Given the description of an element on the screen output the (x, y) to click on. 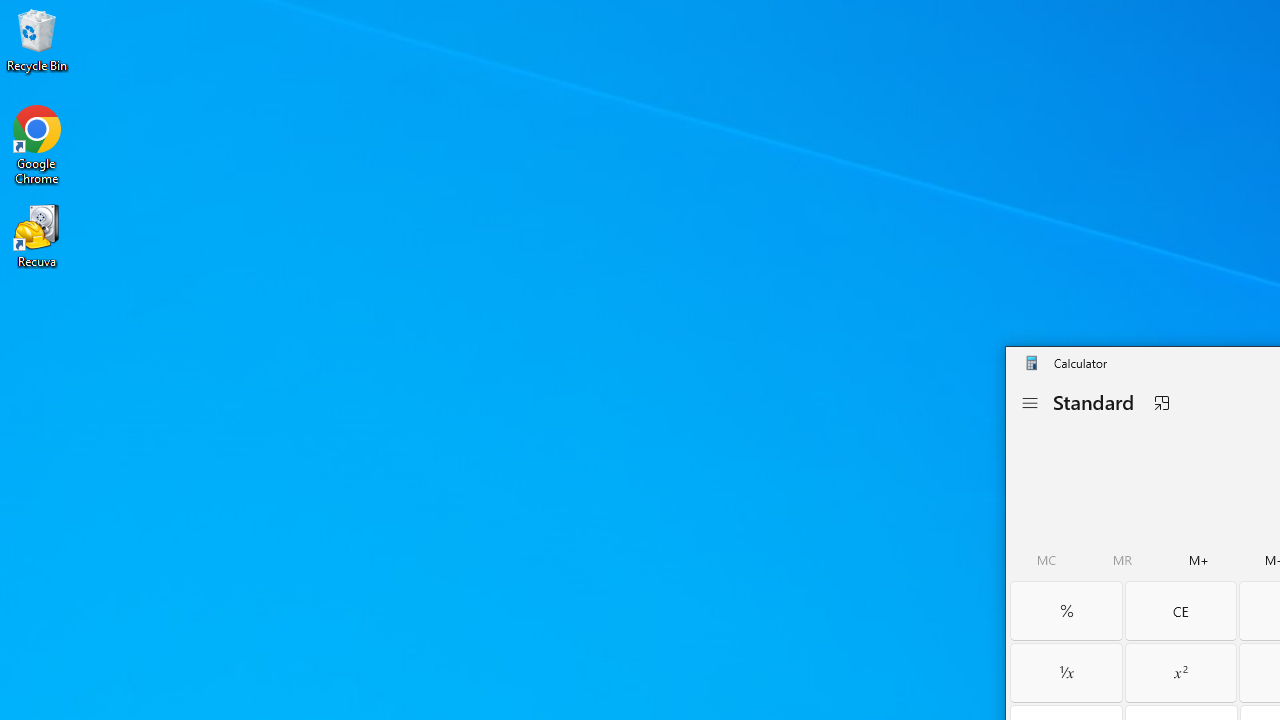
Reciprocal (1065, 672)
Percent (1065, 610)
Memory recall (1122, 560)
Open Navigation (1029, 403)
Memory add (1199, 560)
Clear all memory (1046, 560)
Square (1180, 672)
Keep on top (1161, 403)
Clear entry (1180, 610)
